Given the description of an element on the screen output the (x, y) to click on. 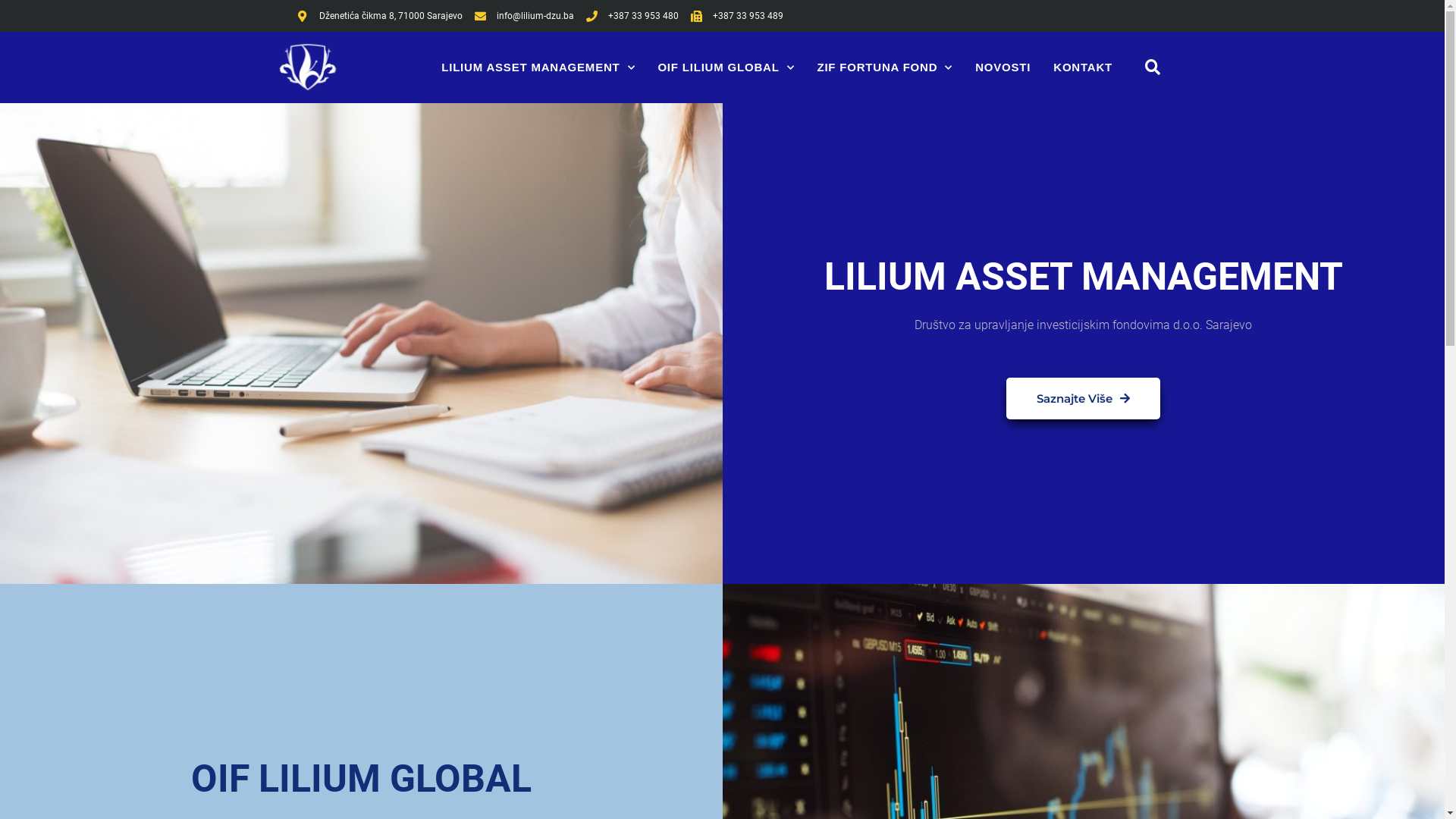
LILIUM ASSET MANAGEMENT Element type: text (537, 67)
KONTAKT Element type: text (1082, 67)
OIF LILIUM GLOBAL Element type: text (725, 67)
NOVOSTI Element type: text (1002, 67)
ZIF FORTUNA FOND Element type: text (884, 67)
